Given the description of an element on the screen output the (x, y) to click on. 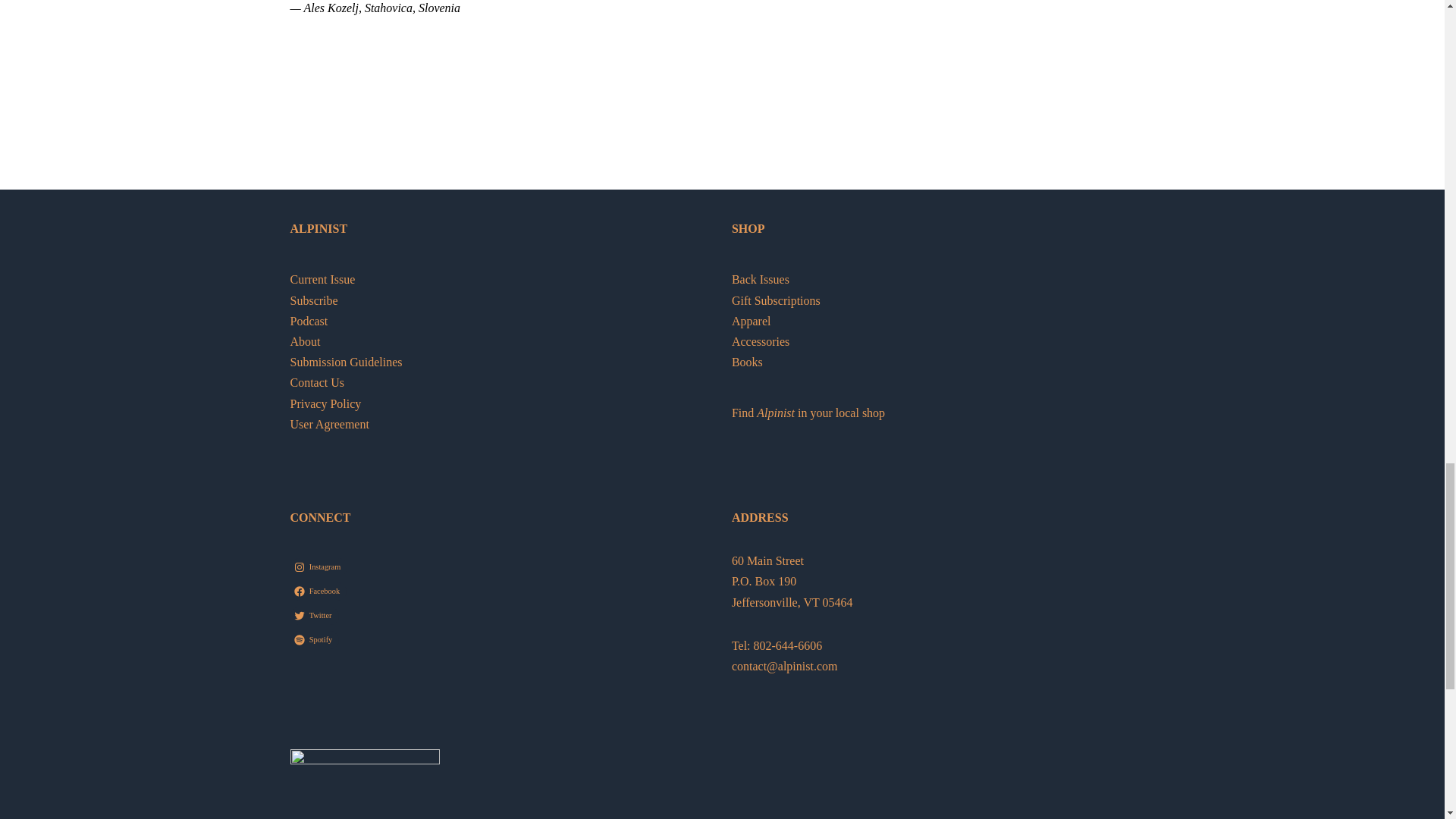
Subscribe (313, 300)
Current Issue (322, 278)
About (304, 341)
Podcast (308, 320)
